Given the description of an element on the screen output the (x, y) to click on. 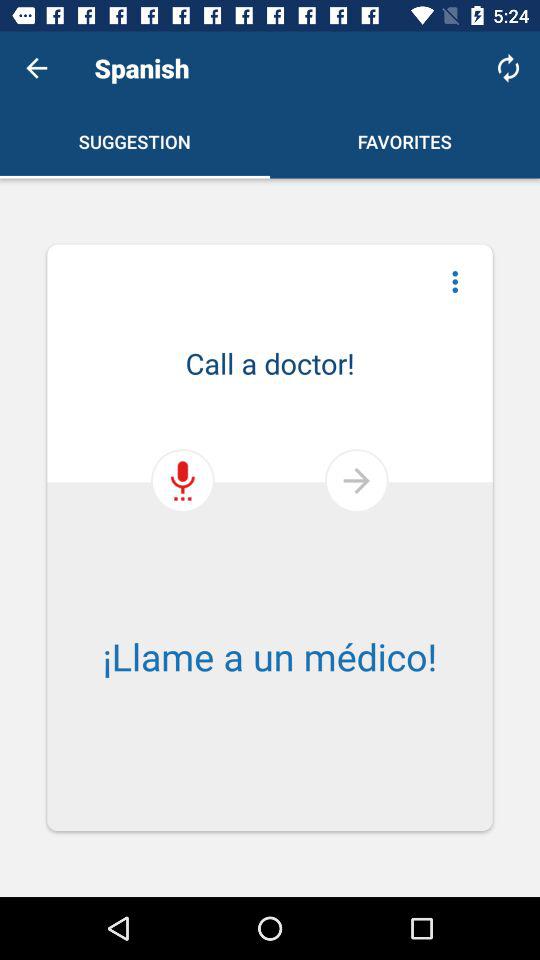
click the button on the right next to the recorder button on the web page (356, 480)
